Given the description of an element on the screen output the (x, y) to click on. 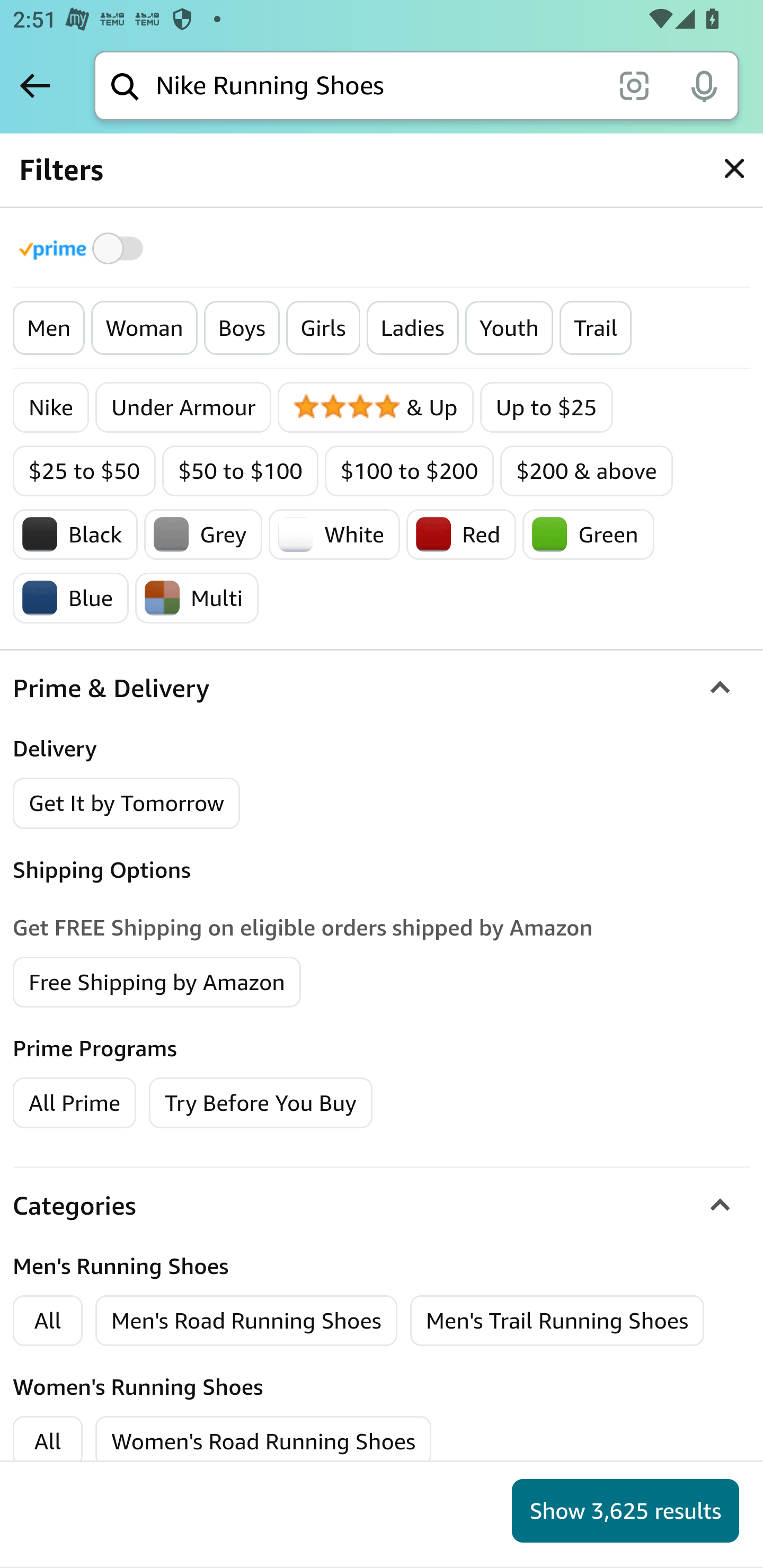
Back (35, 85)
scan it (633, 85)
Toggle to filter by Prime products Prime Eligible (83, 247)
Men (48, 328)
Woman (144, 328)
Boys (241, 328)
Girls (322, 328)
Ladies (412, 328)
Youth (508, 328)
Trail (594, 328)
Nike (51, 407)
Under Armour (183, 407)
4 Stars & Up (374, 407)
Up to $25 (545, 407)
$25 to $50 (84, 471)
$50 to $100 (240, 471)
$100 to $200 (409, 471)
$200 & above (586, 471)
Black Black Black Black (75, 534)
Grey Grey Grey Grey (203, 534)
White White White White (334, 534)
Red Red Red Red (460, 534)
Green Green Green Green (587, 534)
Blue Blue Blue Blue (71, 598)
Multi Multi Multi Multi (197, 598)
Prime & Delivery (381, 688)
Get It by Tomorrow (126, 803)
Free Shipping by Amazon (157, 981)
All Prime (74, 1101)
Try Before You Buy (260, 1101)
Categories (381, 1205)
All (47, 1319)
Men's Road Running Shoes (246, 1319)
Men's Trail Running Shoes (556, 1319)
All (47, 1441)
Women's Road Running Shoes (263, 1441)
Show 3,625 results (625, 1510)
